Given the description of an element on the screen output the (x, y) to click on. 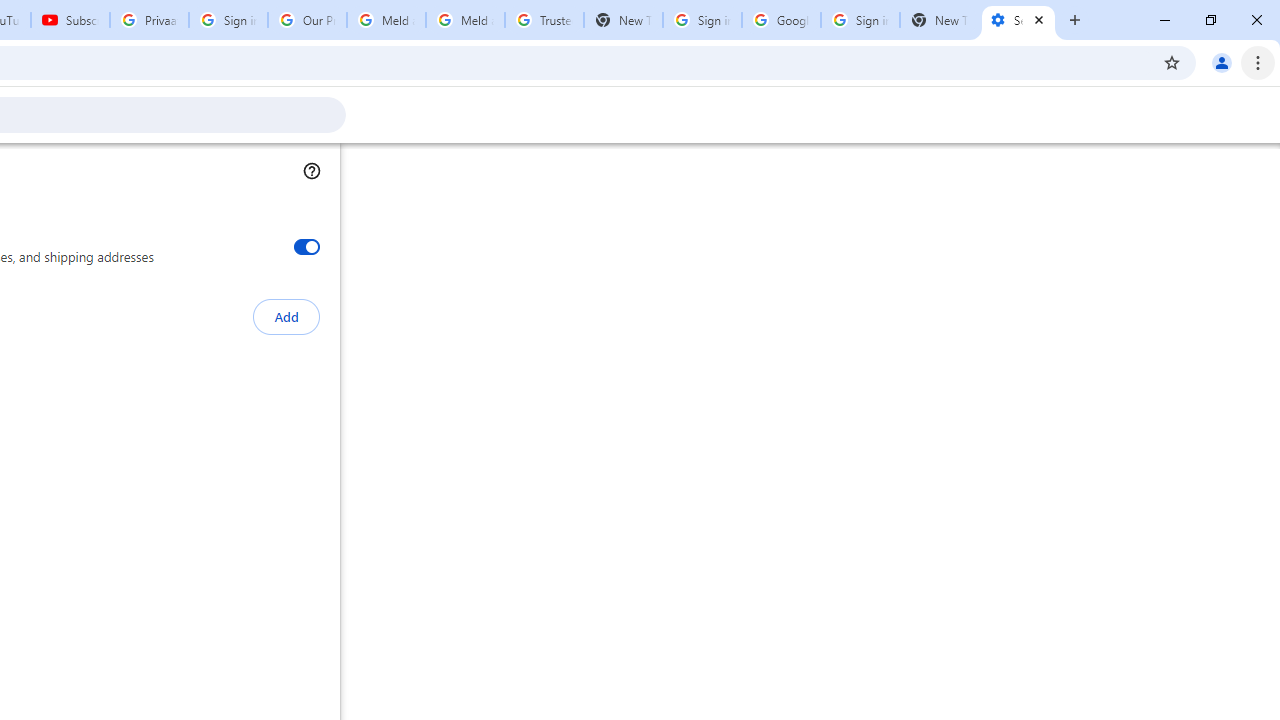
Trusted Information and Content - Google Safety Center (544, 20)
Subscriptions - YouTube (70, 20)
Sign in - Google Accounts (702, 20)
Settings - Addresses and more (1018, 20)
New Tab (939, 20)
Google Cybersecurity Innovations - Google Safety Center (781, 20)
Sign in - Google Accounts (859, 20)
